Given the description of an element on the screen output the (x, y) to click on. 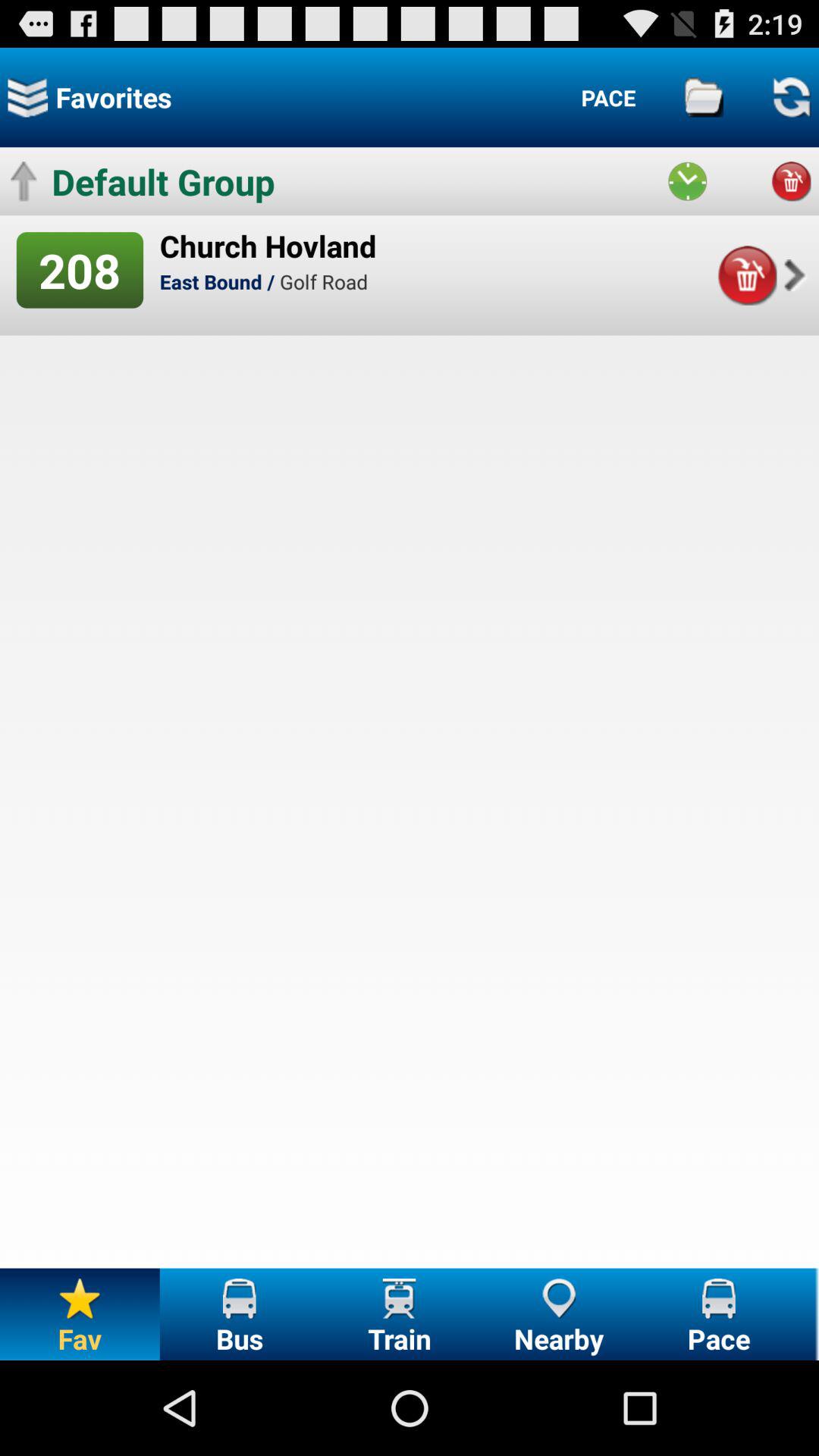
save result (703, 97)
